Given the description of an element on the screen output the (x, y) to click on. 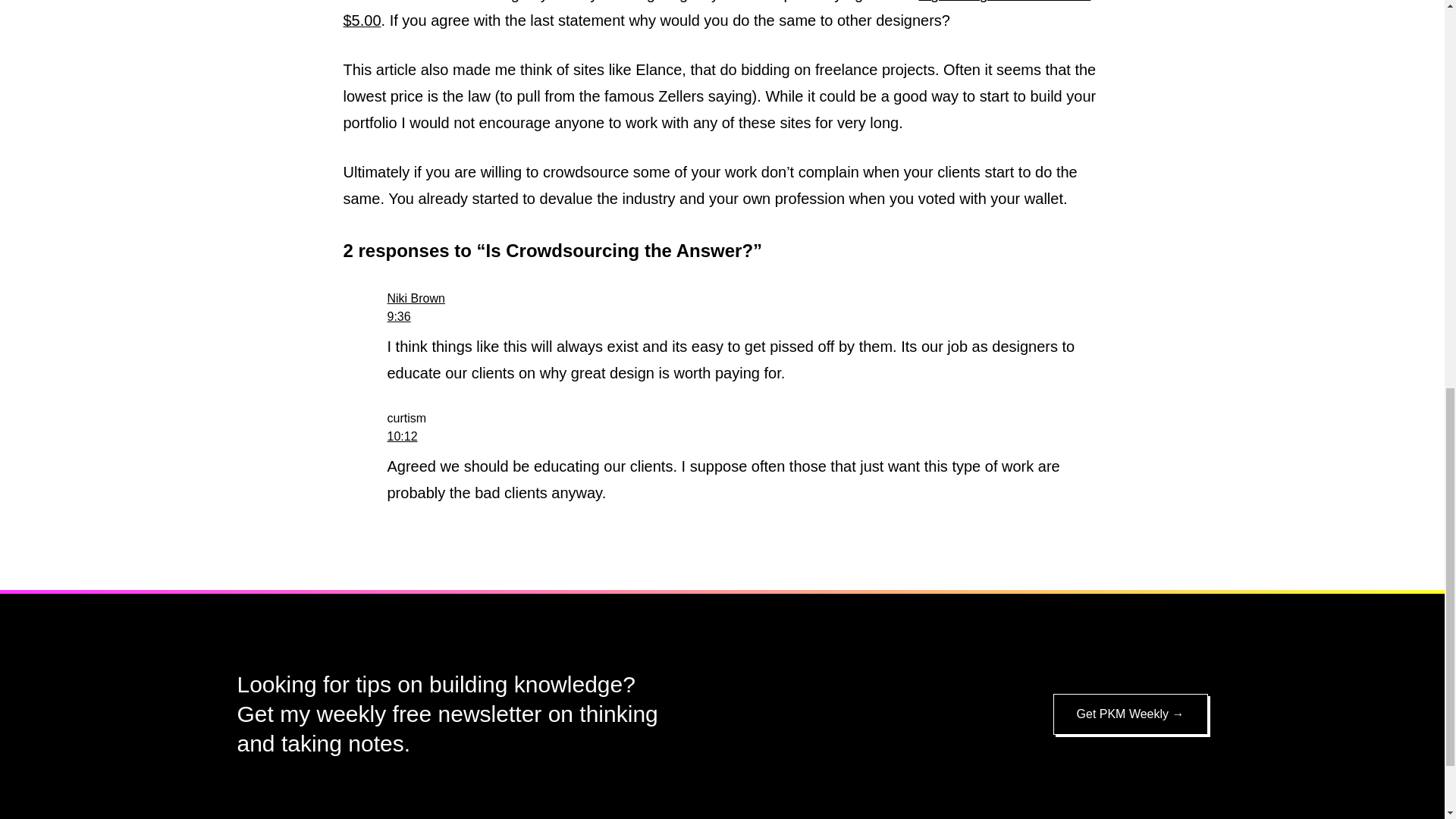
Niki Brown (415, 297)
9:36 (398, 316)
10:12 (401, 436)
